Given the description of an element on the screen output the (x, y) to click on. 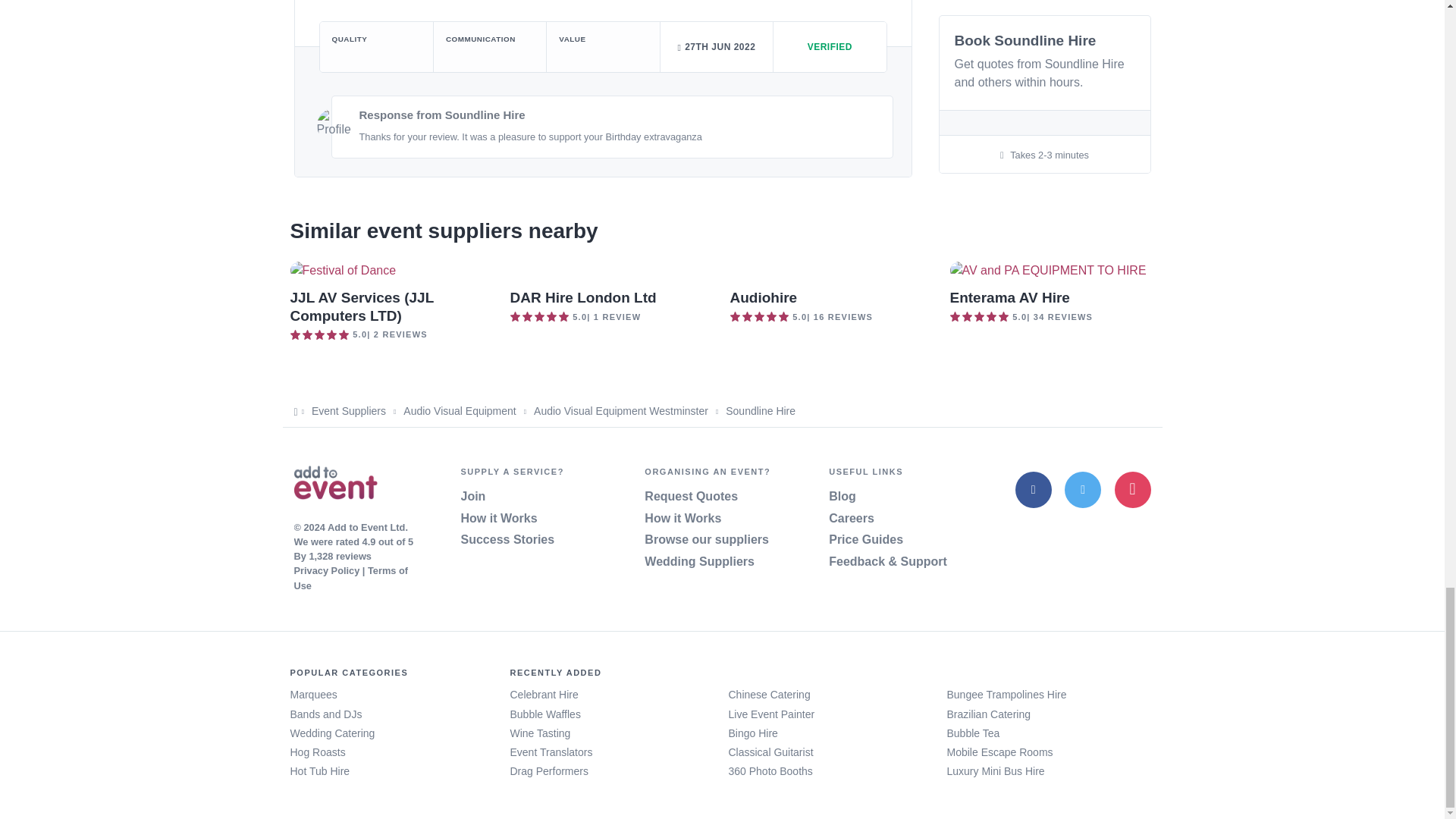
Audio Visual Equipment Westminster (620, 410)
Event Suppliers (348, 410)
Home (335, 485)
DAR Hire London Ltd (582, 297)
Audiohire (762, 297)
Profile Image (333, 125)
Audio Visual Equipment (459, 410)
Enterama AV Hire (1008, 297)
